Given the description of an element on the screen output the (x, y) to click on. 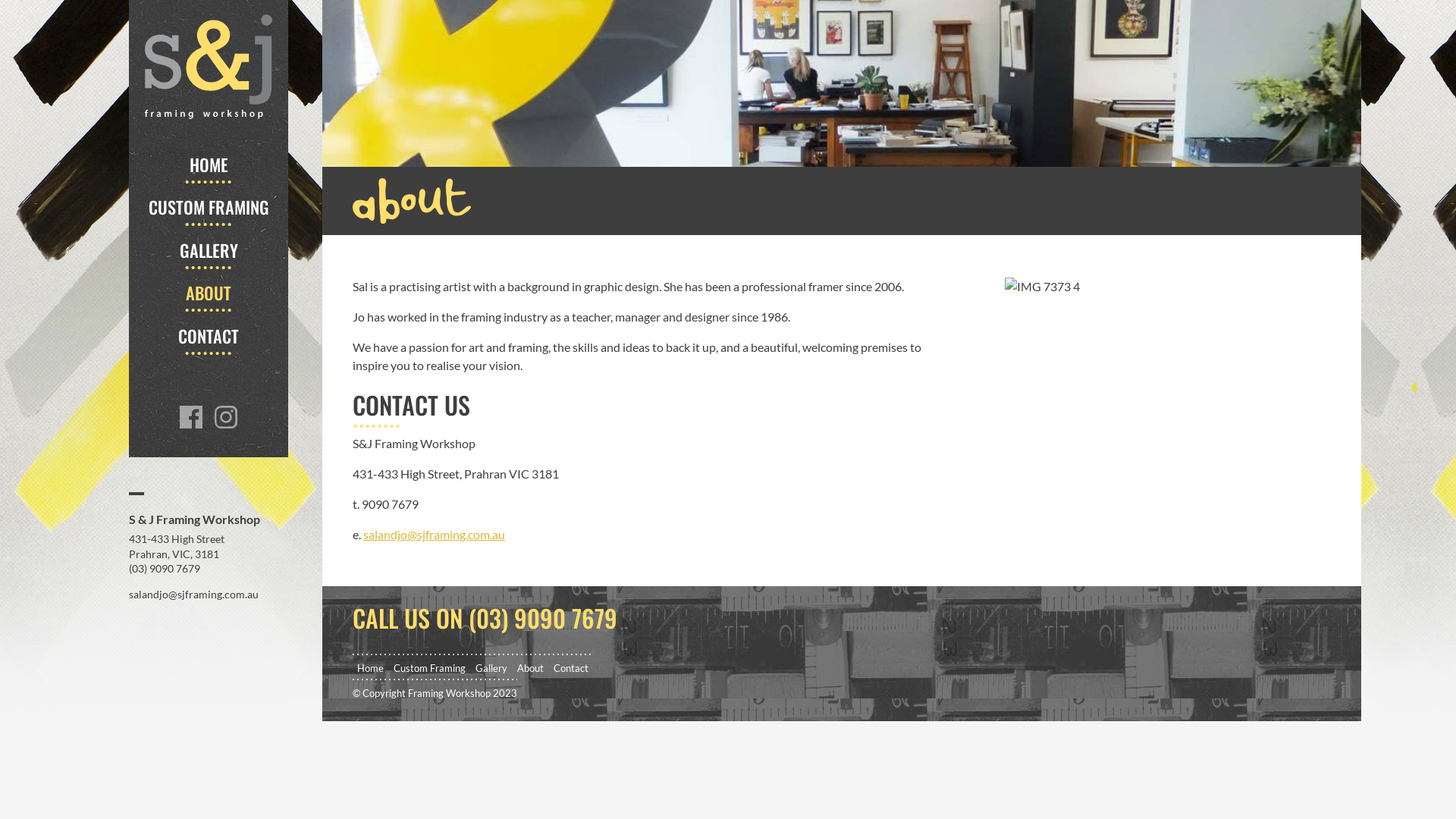
Follow us on Facebook Element type: text (190, 416)
salandjo@sjframing.com.au Element type: text (193, 593)
Contact Element type: text (570, 668)
ABOUT Element type: text (208, 292)
GALLERY Element type: text (207, 250)
CALL US ON (03) 9090 7679 Element type: text (484, 617)
HOME Element type: text (208, 164)
Home Element type: text (370, 668)
Follow us on Facebook Element type: text (225, 416)
salandjo@sjframing.com.au Element type: text (434, 534)
(03) 9090 7679 Element type: text (164, 567)
Custom Framing Element type: text (429, 668)
Gallery Element type: text (491, 668)
CONTACT Element type: text (208, 335)
About Element type: text (530, 668)
CUSTOM FRAMING Element type: text (208, 206)
